Given the description of an element on the screen output the (x, y) to click on. 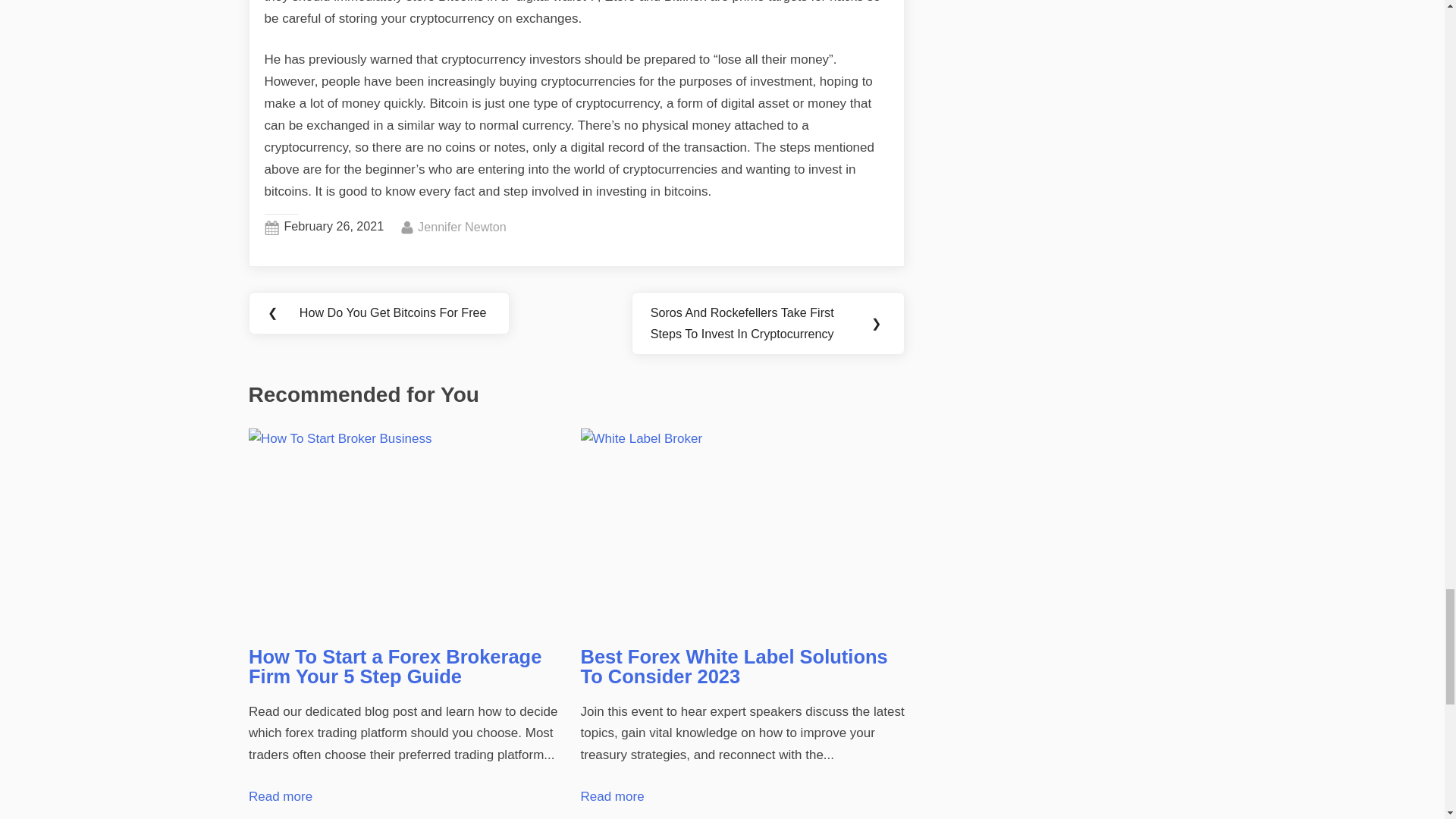
Best Forex White Label Solutions To Consider 2023 (742, 530)
How To Start a Forex Brokerage Firm Your 5 Step Guide (461, 227)
